Given the description of an element on the screen output the (x, y) to click on. 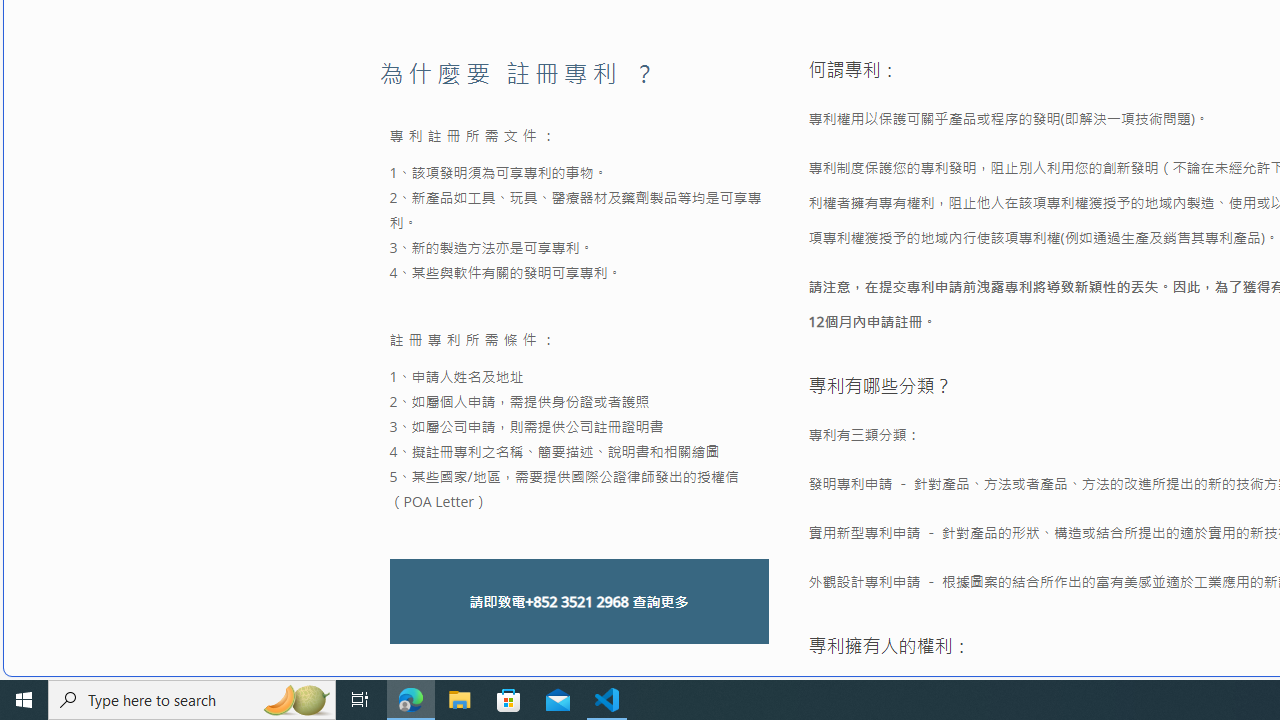
+852 3521 2968 (576, 601)
